Given the description of an element on the screen output the (x, y) to click on. 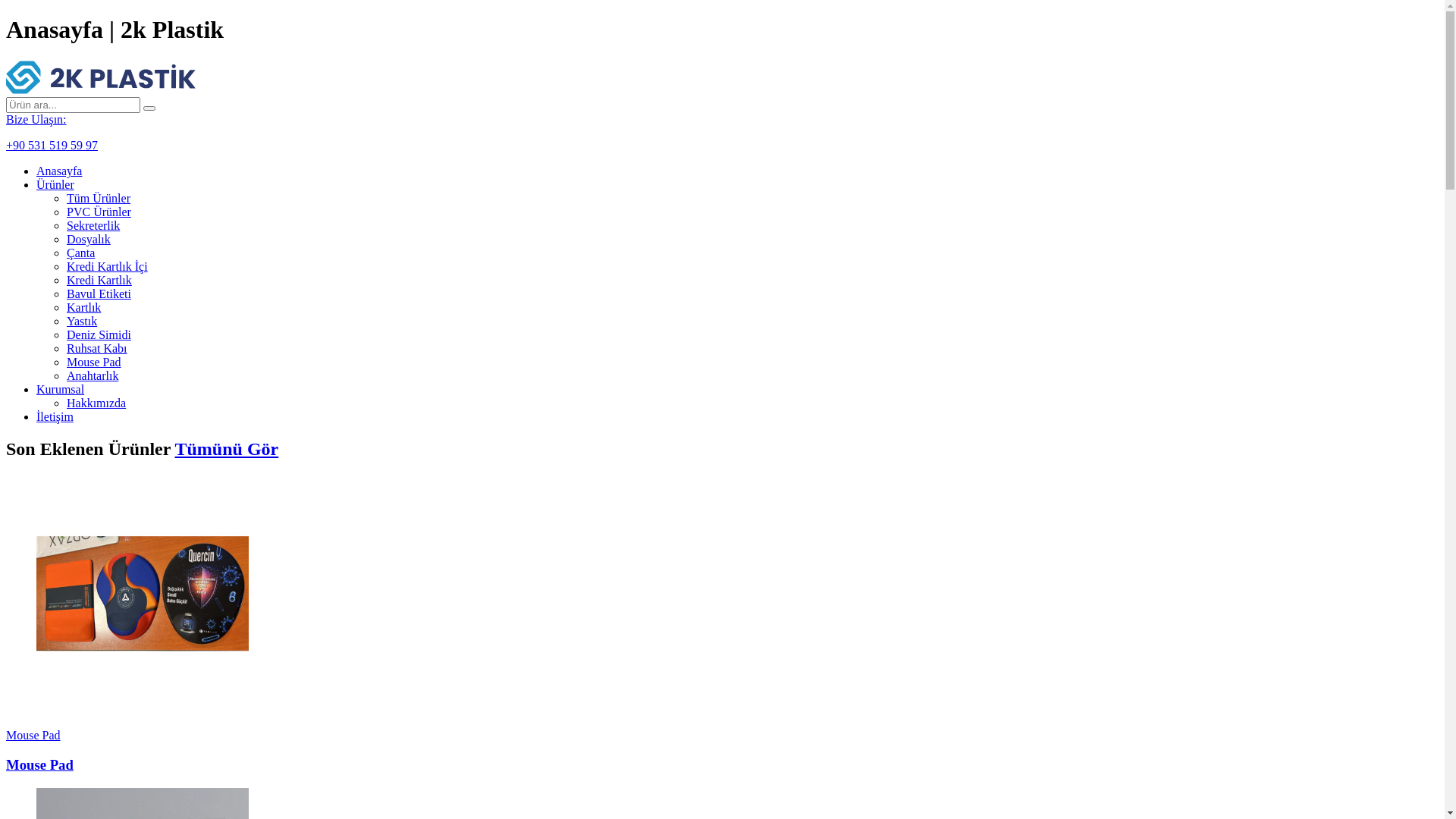
submit-button Element type: hover (149, 108)
Kurumsal Element type: text (60, 388)
Bavul Etiketi Element type: text (98, 293)
Mouse Pad Element type: text (93, 361)
Anasayfa Element type: text (58, 170)
Mouse Pad Element type: text (33, 734)
Deniz Simidi Element type: text (98, 334)
Mouse Pad Element type: text (39, 764)
Sekreterlik Element type: text (92, 225)
